Given the description of an element on the screen output the (x, y) to click on. 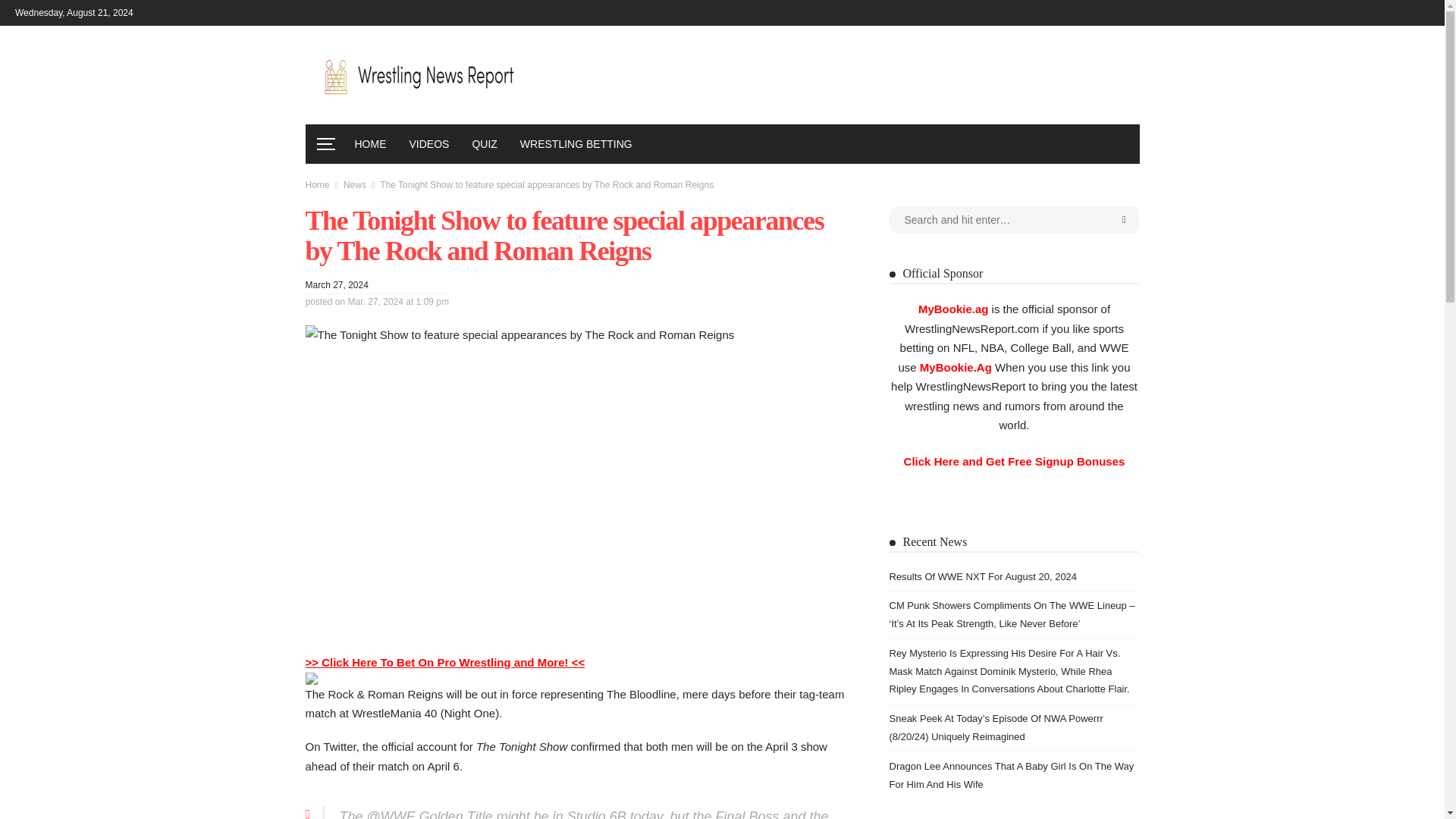
Home (316, 184)
News (354, 184)
VIDEOS (428, 143)
Home (316, 184)
QUIZ (484, 143)
HOME (369, 143)
WRESTLING BETTING (575, 143)
